Given the description of an element on the screen output the (x, y) to click on. 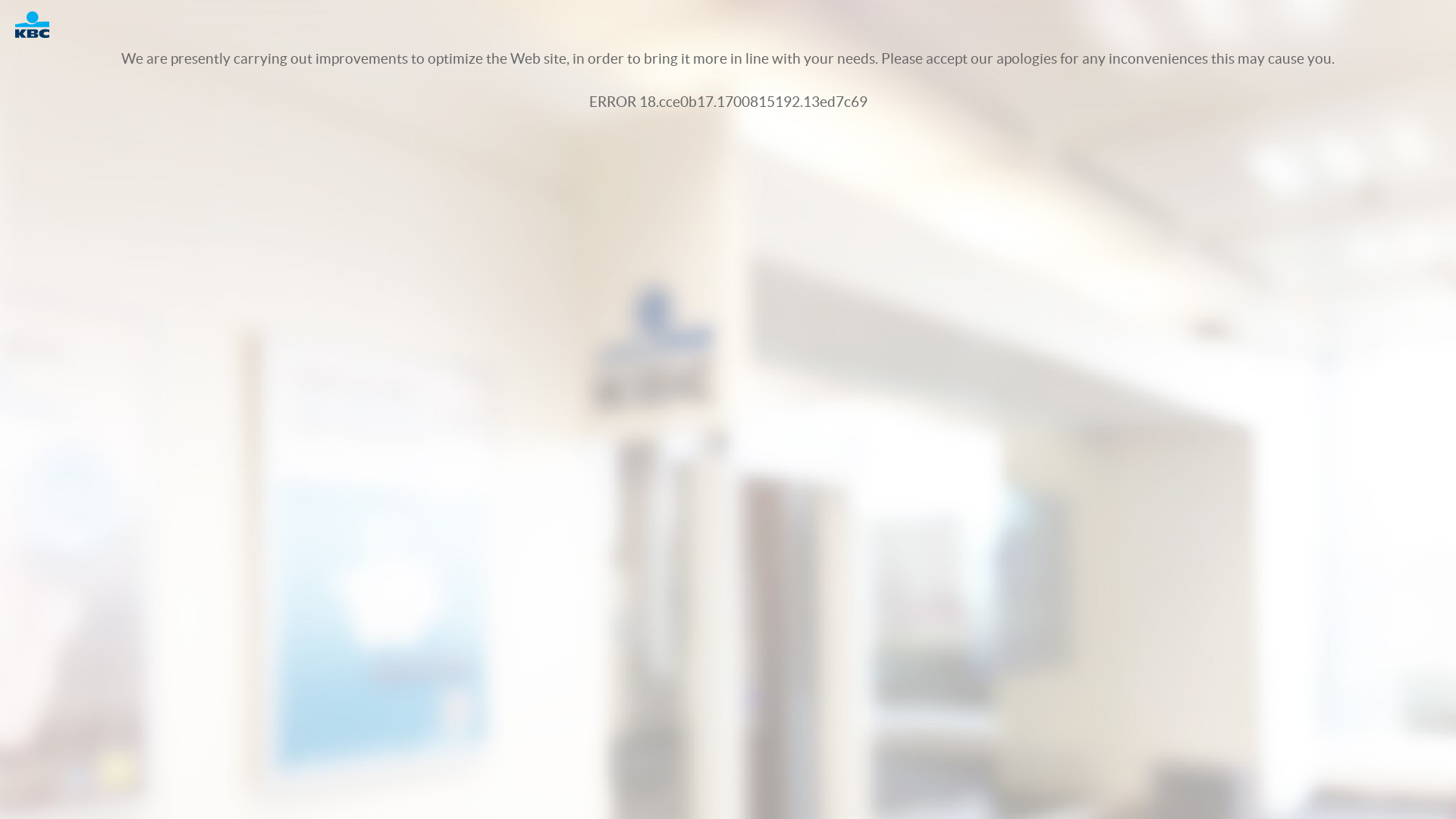
Logo Element type: text (39, 24)
